Given the description of an element on the screen output the (x, y) to click on. 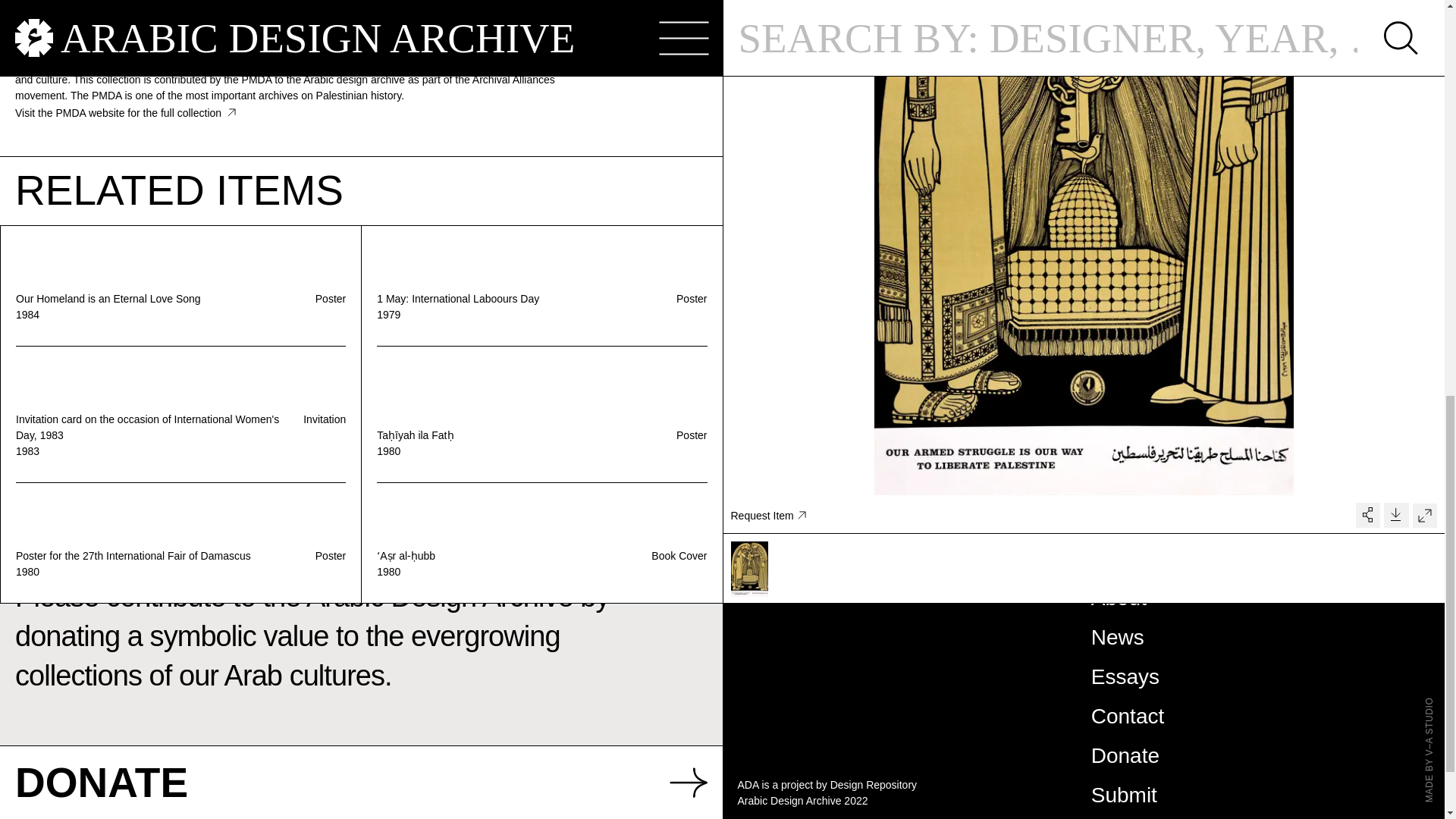
Visit the PMDA website for the full collection (124, 112)
The Palestinian Museum Digital Archive (114, 36)
